Given the description of an element on the screen output the (x, y) to click on. 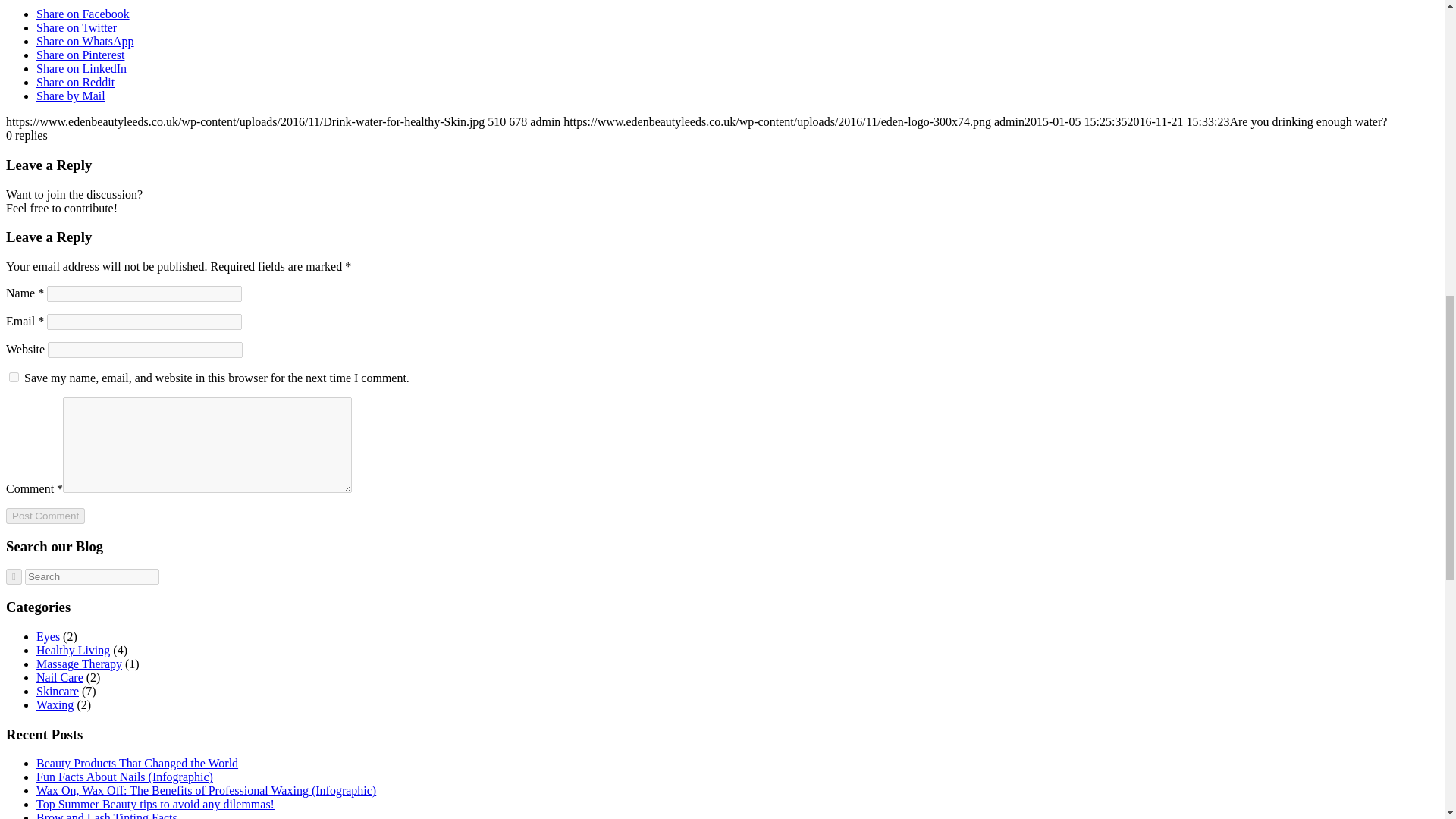
Share on WhatsApp (84, 41)
Eyes (47, 635)
Beauty Products That Changed the World (137, 762)
Share on Facebook (82, 13)
Share on Twitter (76, 27)
Skincare (57, 690)
Post Comment (44, 515)
Share by Mail (70, 95)
yes (13, 377)
Healthy Living (73, 649)
Waxing (55, 704)
Share on LinkedIn (81, 68)
Nail Care (59, 676)
Post Comment (44, 515)
Share on Pinterest (79, 54)
